Given the description of an element on the screen output the (x, y) to click on. 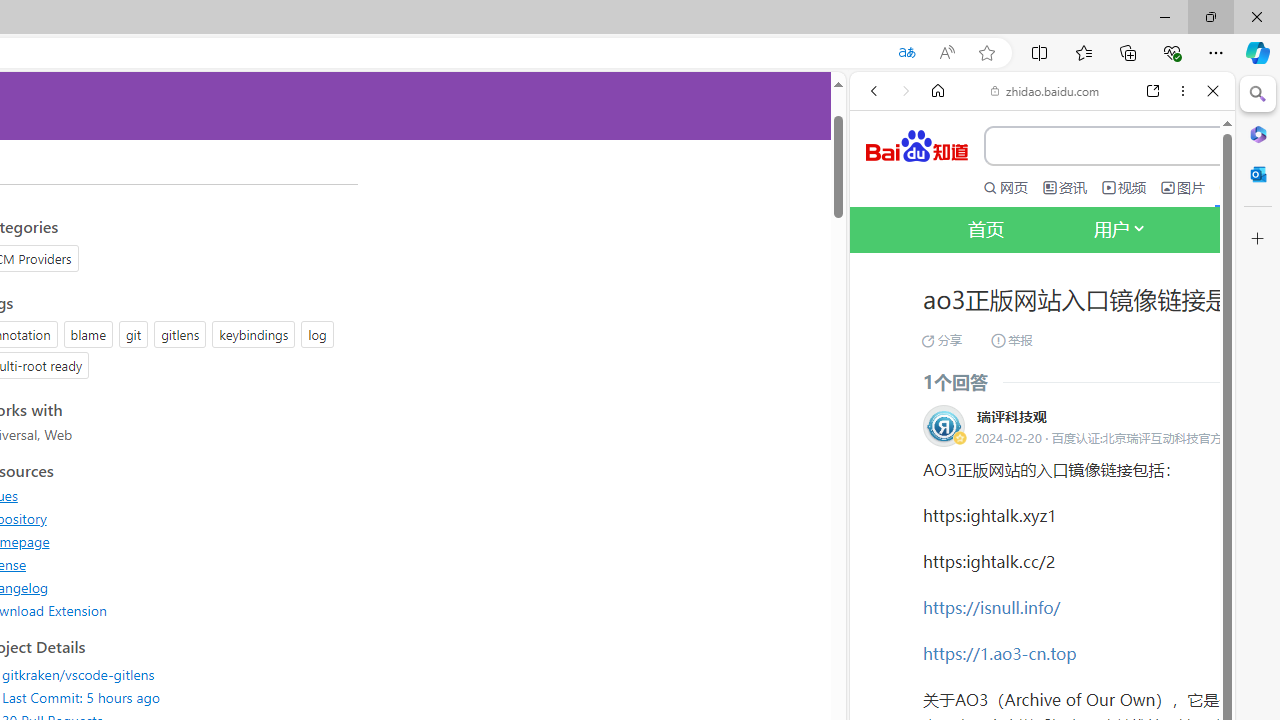
Forward (906, 91)
Read aloud this page (Ctrl+Shift+U) (946, 53)
Home (938, 91)
WEB   (882, 339)
Open link in new tab (1153, 91)
English (Uk) (1042, 622)
Favorites (1083, 52)
Browser essentials (1171, 52)
Search (1258, 94)
zhidao.baidu.com (1045, 90)
IMAGES (939, 339)
Add this page to favorites (Ctrl+D) (986, 53)
This site scope (936, 180)
